Given the description of an element on the screen output the (x, y) to click on. 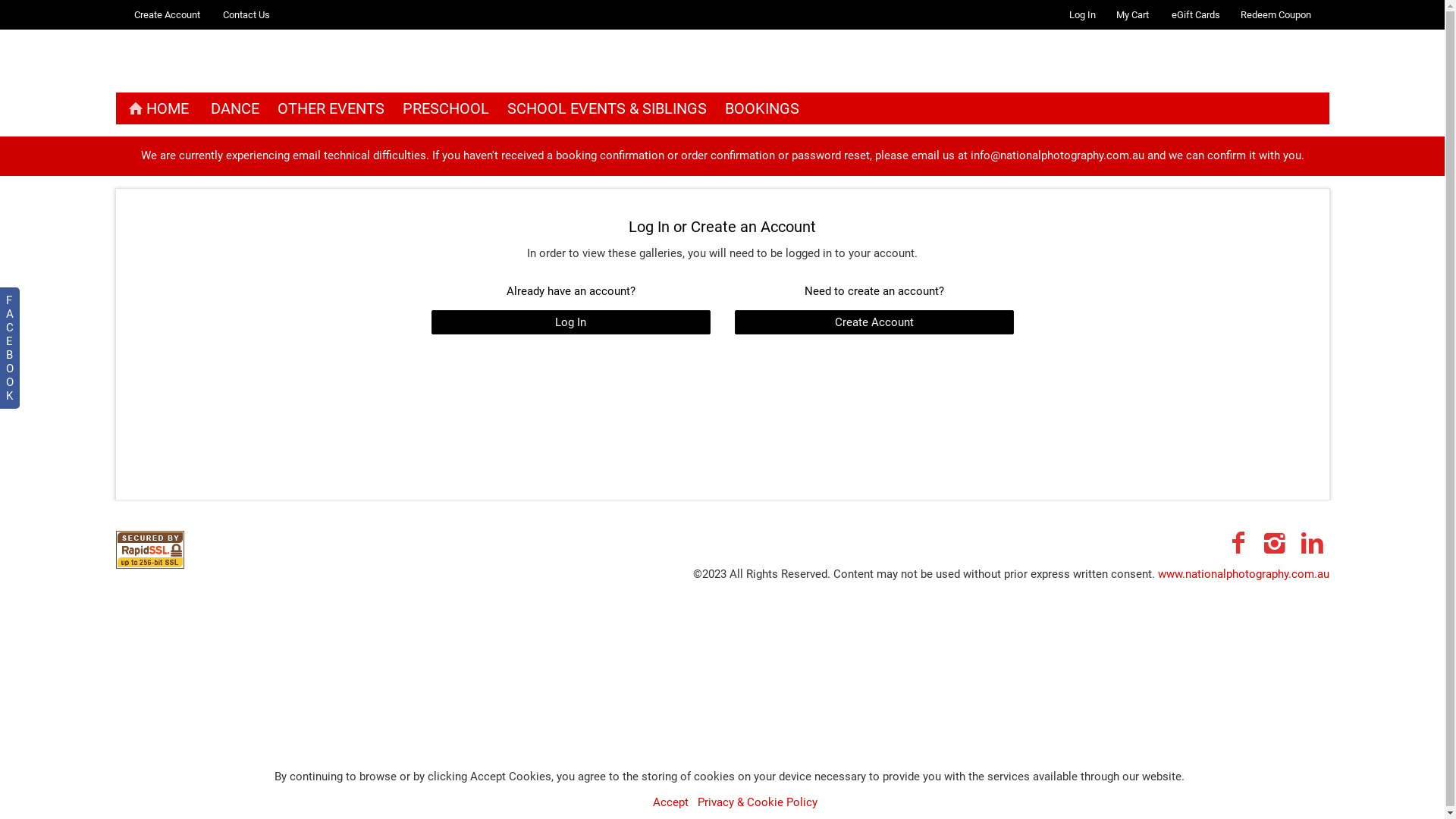
HOME Element type: text (156, 108)
BOOKINGS Element type: text (761, 108)
eGift Cards Element type: text (1194, 14)
LinkedIn Element type: hover (1312, 542)
PRESCHOOL Element type: text (444, 108)
Facebook Element type: hover (1237, 542)
Instagram Element type: hover (1275, 542)
Log In Element type: text (569, 322)
Create Account Element type: text (873, 322)
Log In Element type: text (1082, 14)
Create Account Element type: text (166, 14)
DANCE Element type: text (234, 108)
Contact Us Element type: text (245, 14)
SCHOOL EVENTS & SIBLINGS Element type: text (606, 108)
Redeem Coupon Element type: text (1275, 14)
OTHER EVENTS Element type: text (330, 108)
Accept Element type: text (670, 802)
www.nationalphotography.com.au Element type: text (1242, 573)
My Cart Element type: text (1133, 14)
Privacy & Cookie Policy Element type: text (757, 802)
